Given the description of an element on the screen output the (x, y) to click on. 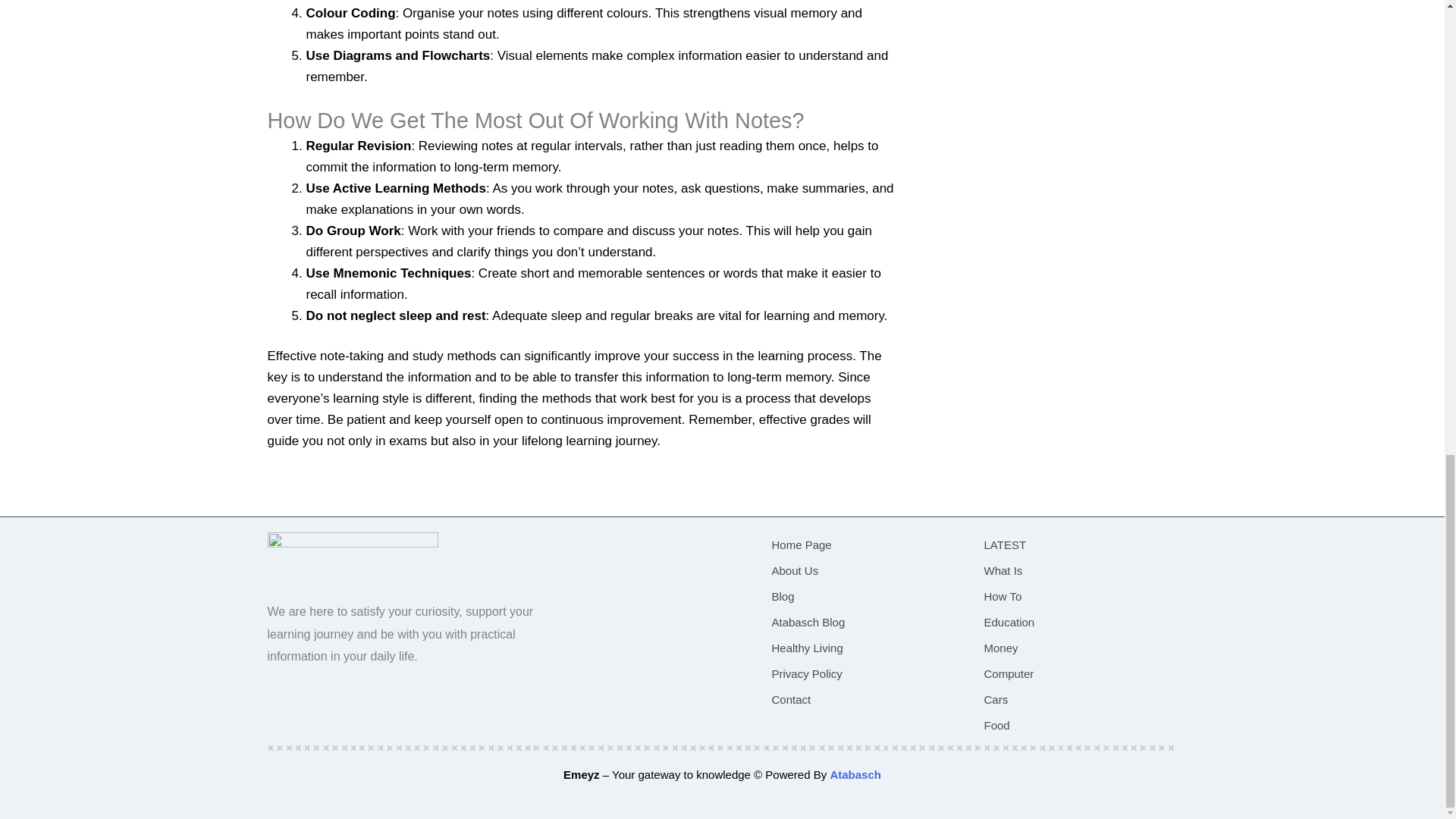
Healthy Living (864, 647)
About Us (864, 570)
Home Page (864, 544)
Privacy Policy (864, 673)
Blog (864, 596)
Contact (864, 699)
Atabasch Blog (864, 622)
